Given the description of an element on the screen output the (x, y) to click on. 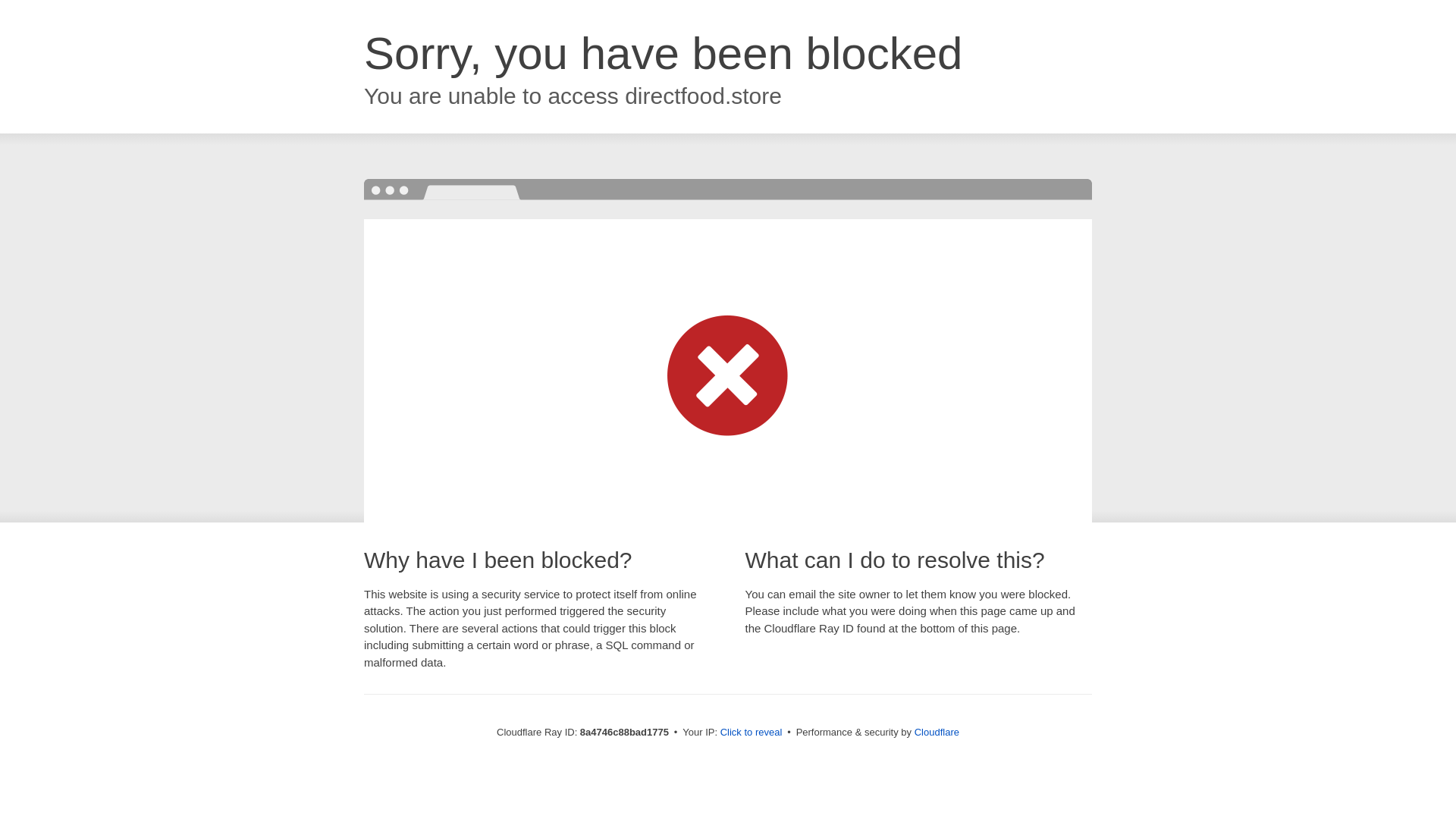
Click to reveal (751, 732)
Cloudflare (936, 731)
